Given the description of an element on the screen output the (x, y) to click on. 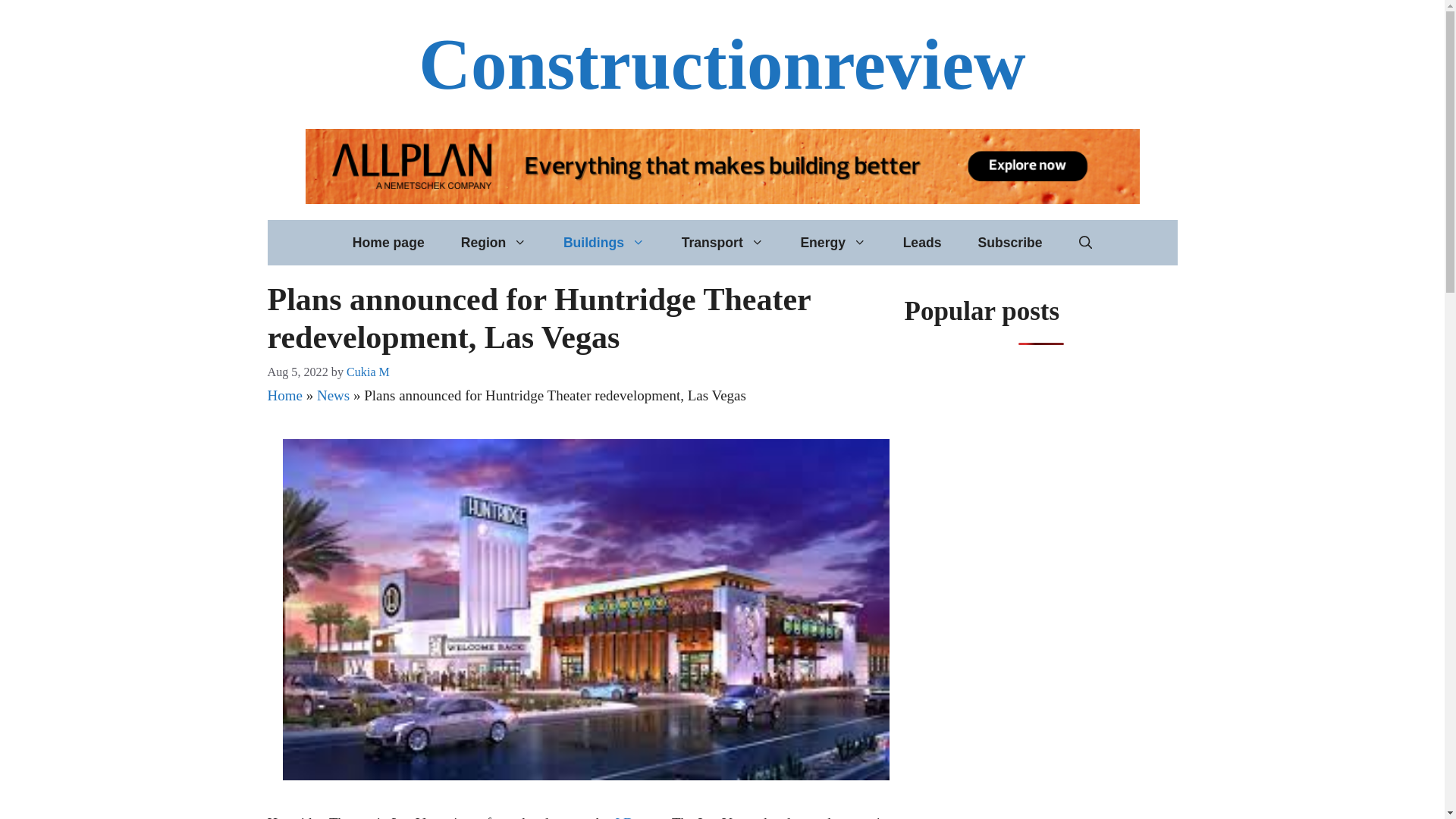
View all posts by Cukia M (368, 371)
Subscribe (1009, 242)
Constructionreview (722, 64)
Buildings (603, 242)
Region (493, 242)
Home page (388, 242)
Leads (922, 242)
Transport (723, 242)
Energy (832, 242)
